Given the description of an element on the screen output the (x, y) to click on. 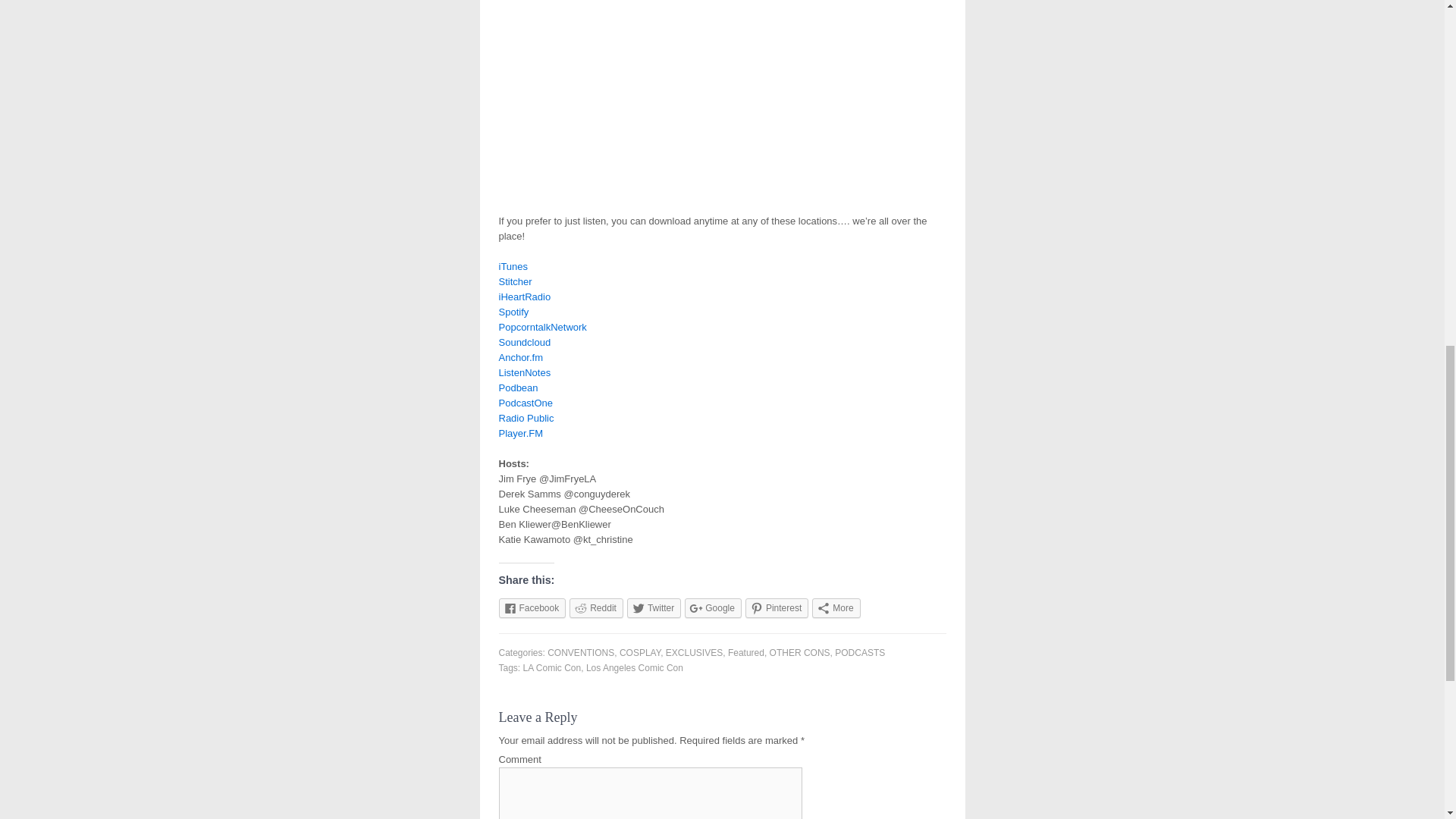
Podbean (518, 387)
Radio Public (526, 418)
iTunes (513, 266)
Click to share on Pinterest (776, 608)
ListenNotes (525, 372)
Spotify (514, 311)
Player.FM (521, 432)
iHeartRadio (525, 296)
PodcastOne (526, 402)
More (836, 608)
